Given the description of an element on the screen output the (x, y) to click on. 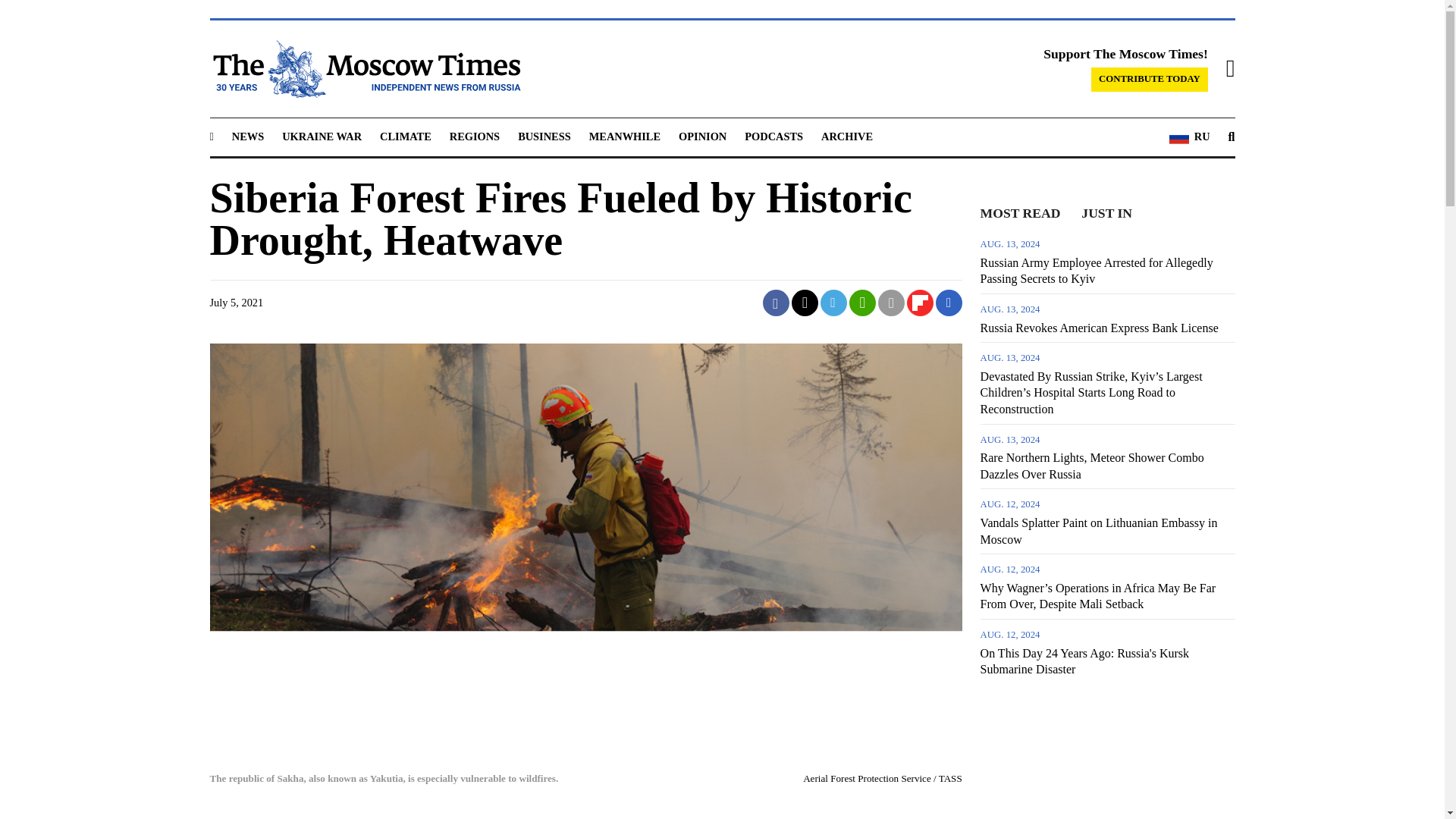
CLIMATE (405, 136)
OPINION (702, 136)
ARCHIVE (846, 136)
Share on Twitter (805, 302)
CONTRIBUTE TODAY (1149, 79)
BUSINESS (544, 136)
RU (1189, 137)
Share on Facebook (775, 302)
Share on Flipboard (920, 302)
REGIONS (474, 136)
